Given the description of an element on the screen output the (x, y) to click on. 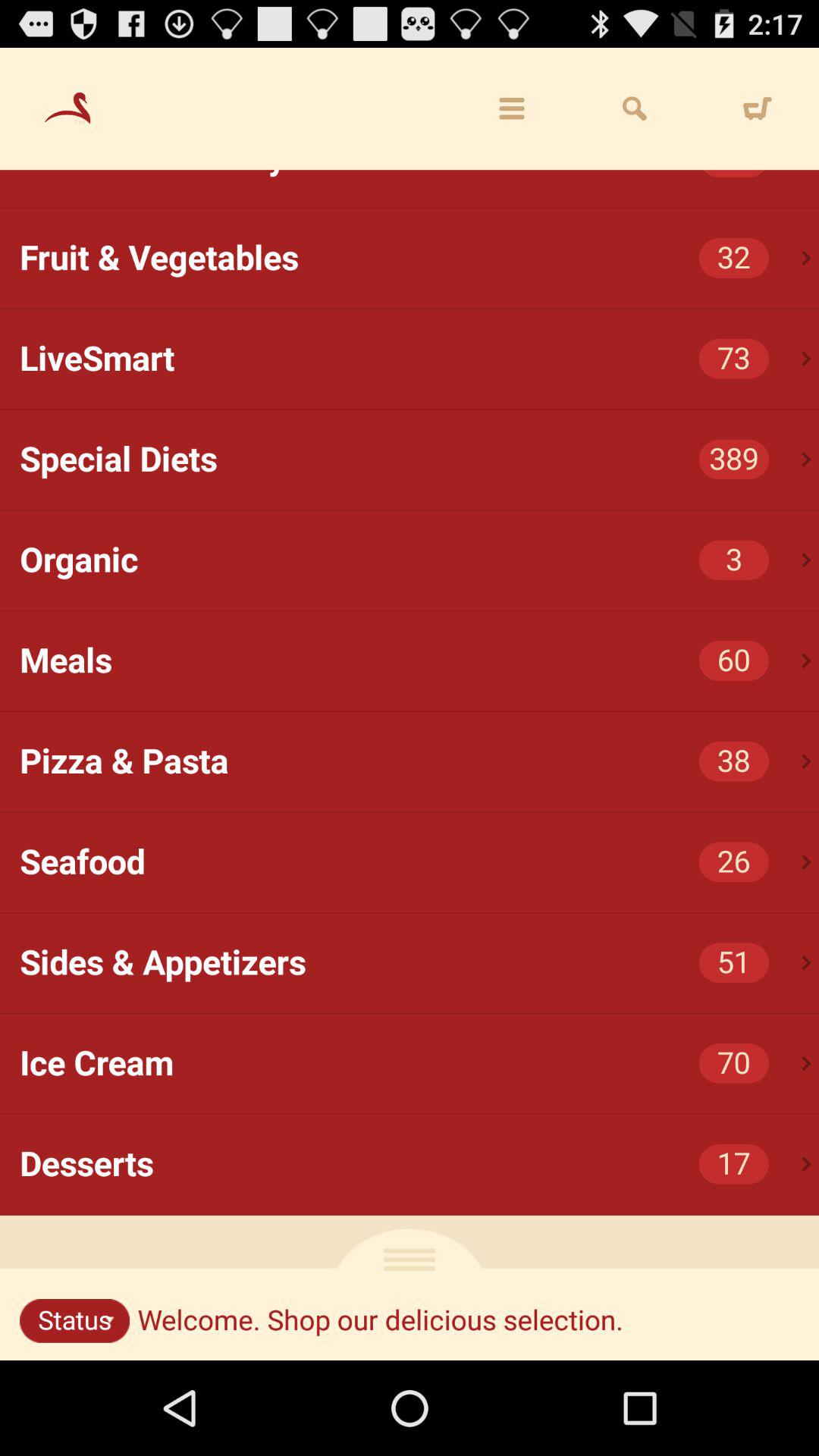
launch the icon below the seafood icon (806, 962)
